Given the description of an element on the screen output the (x, y) to click on. 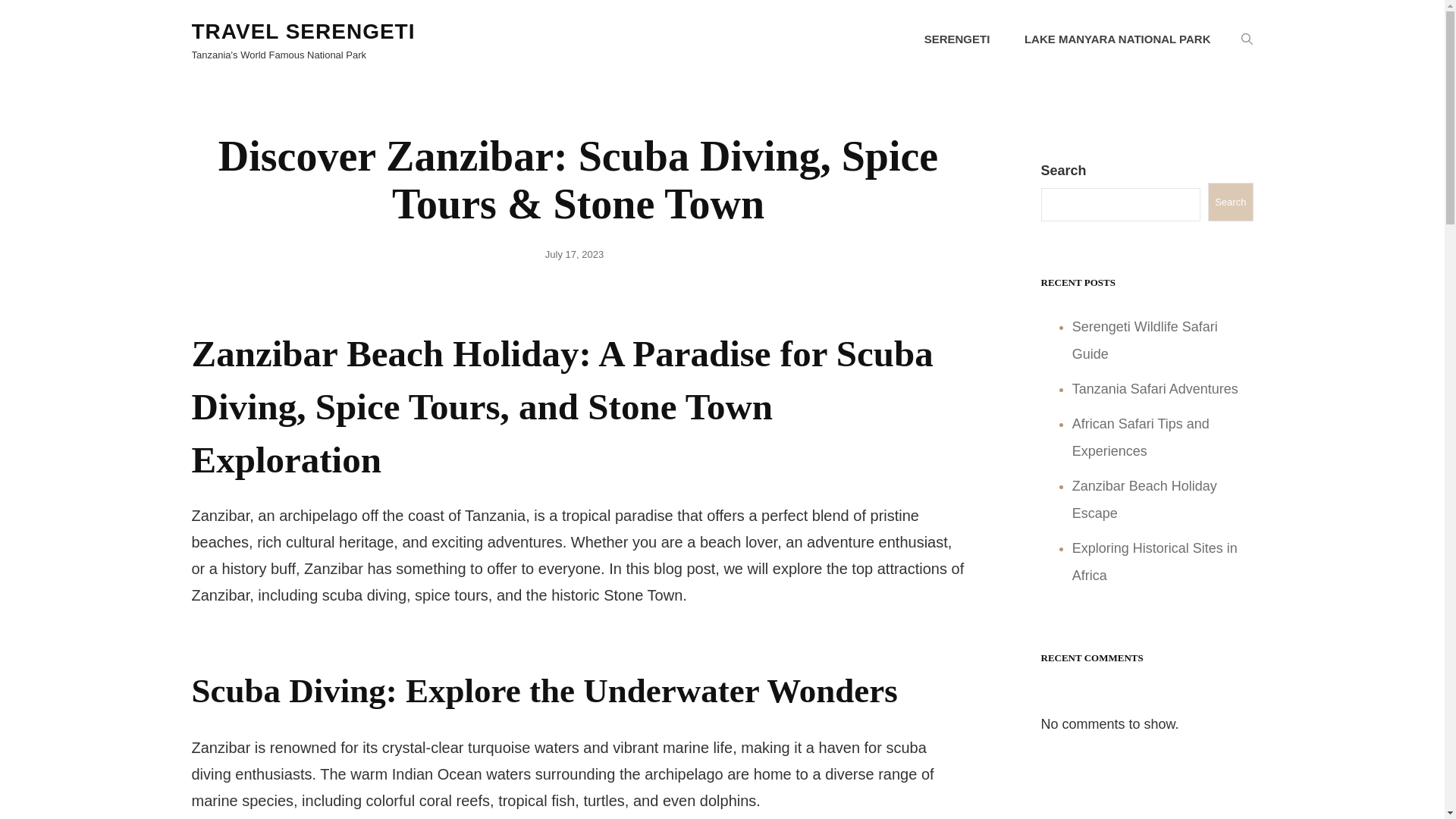
July 17, 2023 (574, 254)
TRAVEL SERENGETI (302, 31)
Exploring Historical Sites in Africa (1154, 561)
Tanzania Safari Adventures (1155, 388)
SERENGETI (957, 39)
African Safari Tips and Experiences (1140, 437)
Zanzibar Beach Holiday Escape (1144, 499)
Serengeti Wildlife Safari Guide (1144, 340)
LAKE MANYARA NATIONAL PARK (1117, 39)
Search (1230, 201)
